Given the description of an element on the screen output the (x, y) to click on. 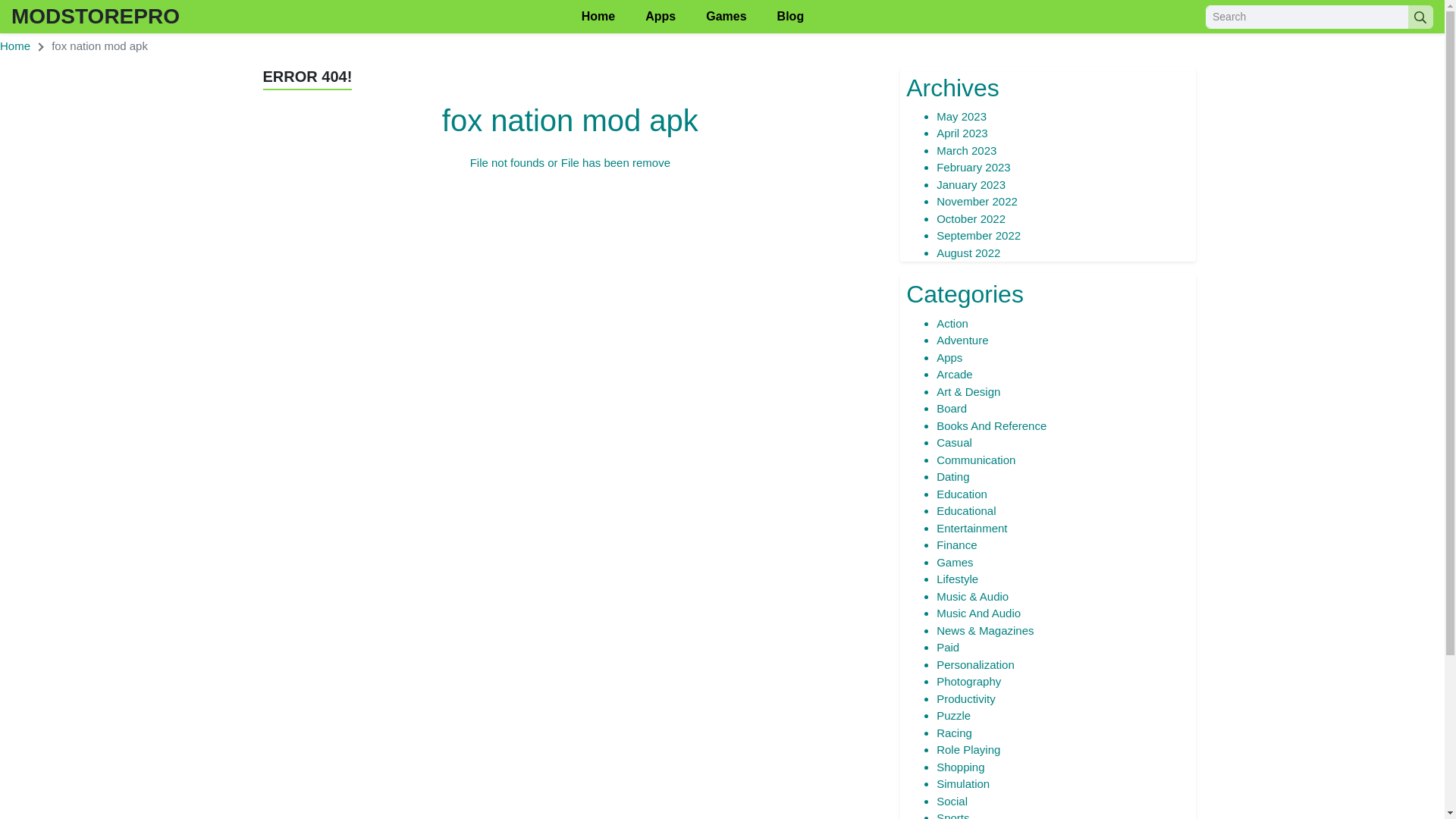
Arcade (954, 373)
Paid (947, 646)
Apps (660, 16)
Apps (949, 357)
August 2022 (968, 252)
Board (951, 408)
February 2023 (973, 166)
Games (725, 16)
Casual (954, 441)
Entertainment (971, 527)
Educational (965, 510)
Dating (952, 476)
May 2023 (961, 115)
Action (952, 323)
September 2022 (978, 235)
